Given the description of an element on the screen output the (x, y) to click on. 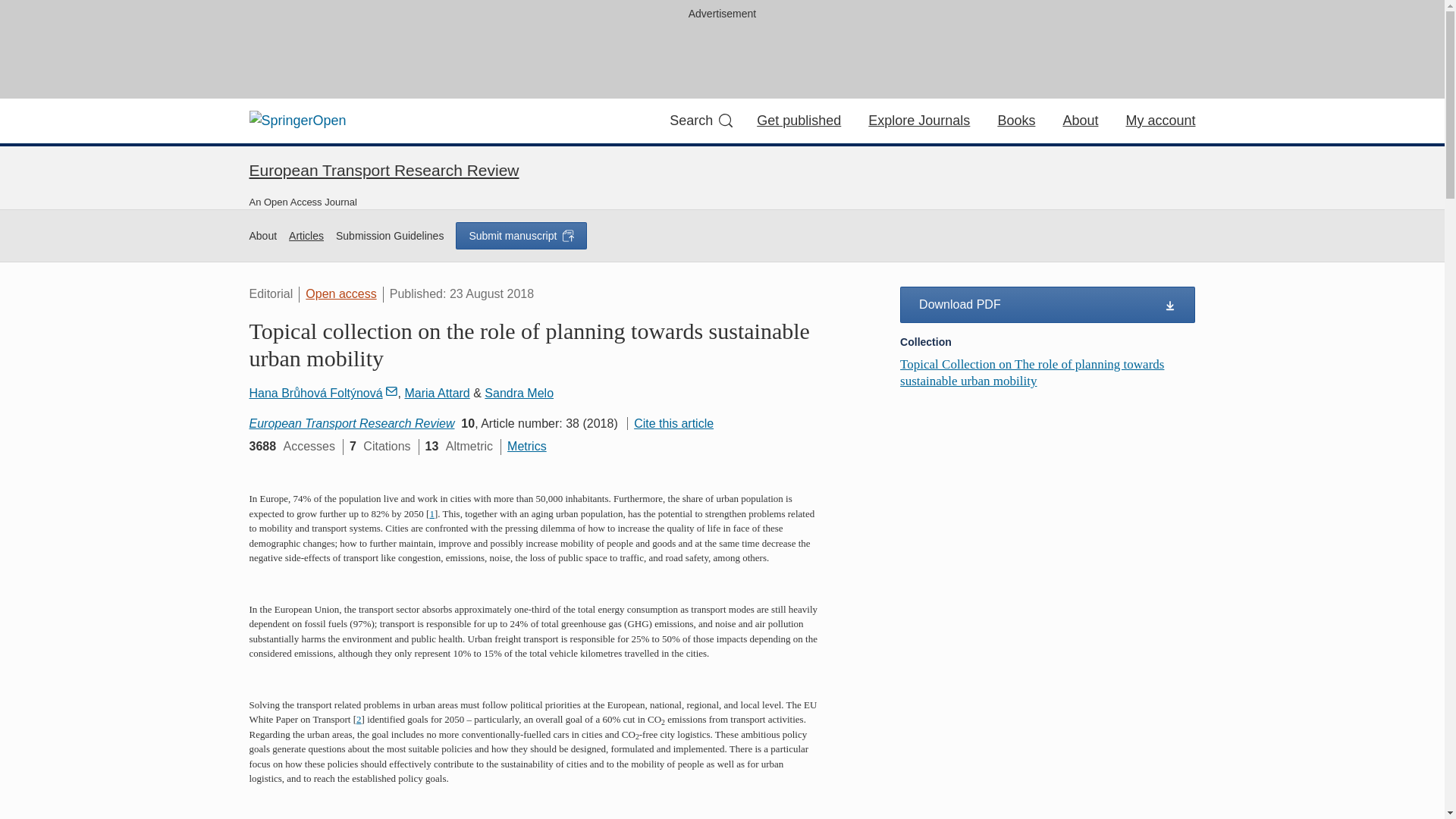
Submission Guidelines (390, 235)
Maria Attard (437, 392)
European Transport Research Review (383, 170)
Books (1016, 120)
My account (1160, 120)
Submit manuscript (520, 235)
Sandra Melo (518, 392)
Open access (340, 293)
About (262, 235)
Metrics (526, 445)
Articles (305, 235)
Explore Journals (918, 120)
Get published (799, 120)
Cite this article (670, 422)
European Transport Research Review (351, 422)
